Given the description of an element on the screen output the (x, y) to click on. 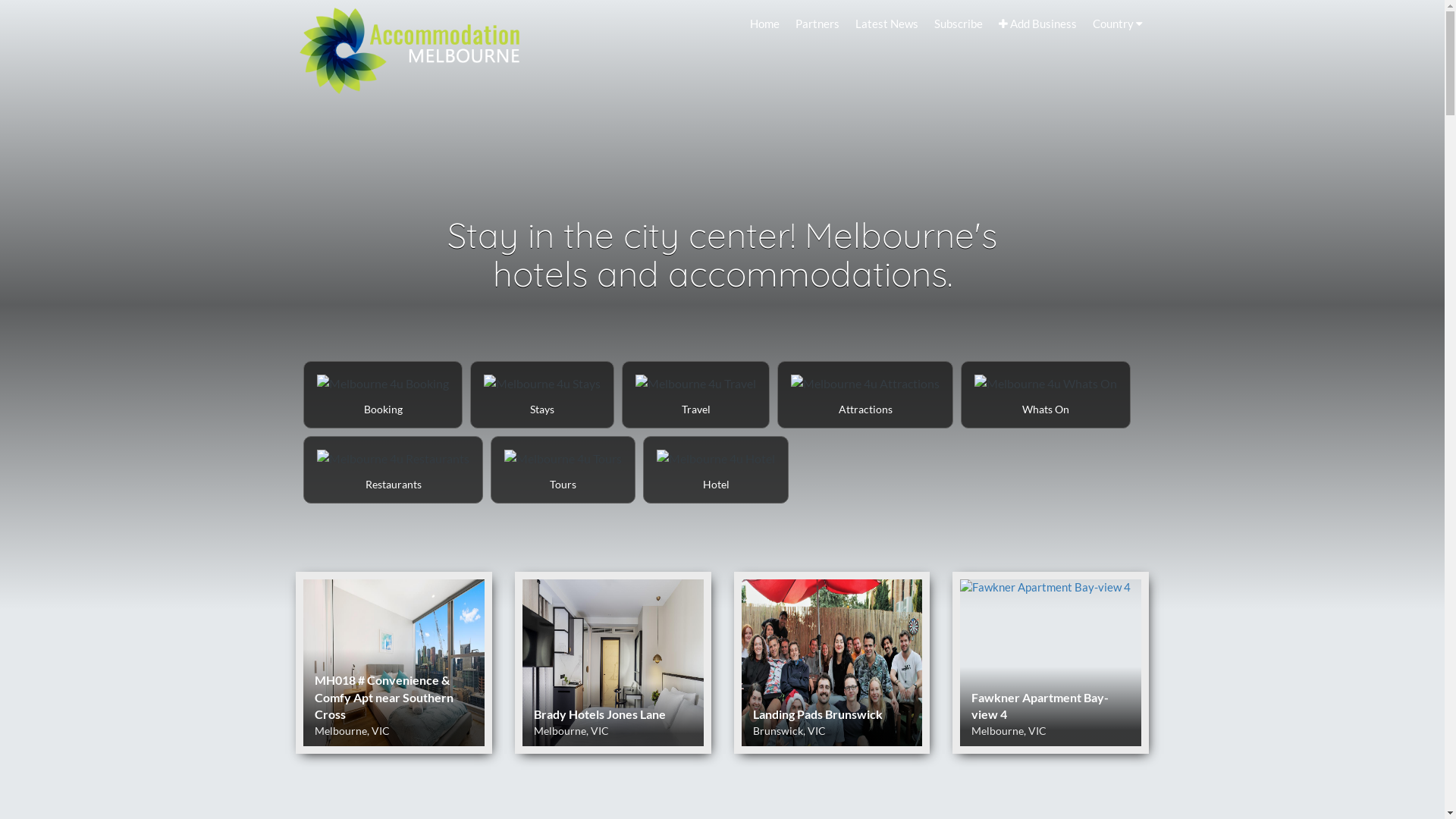
Subscribe Element type: text (958, 23)
Whats On Melbourne 4u Element type: hover (1045, 394)
Fawkner Apartment Bay-view 4
Melbourne, VIC Element type: text (1050, 662)
Partners Element type: text (817, 23)
Brady Hotels Jones Lane
Melbourne, VIC Element type: text (612, 662)
Country Element type: text (1117, 23)
Travel Melbourne 4u Element type: hover (695, 394)
Booking Melbourne 4u Element type: hover (382, 394)
Add Business Element type: text (1037, 23)
Restaurants Melbourne 4u Element type: hover (393, 469)
Hotel Melbourne 4u Element type: hover (715, 469)
Melbourne 4u Home Page Element type: hover (409, 47)
Home Element type: text (764, 23)
Stays Melbourne 4u Element type: hover (541, 394)
Attractions Melbourne 4u Element type: hover (865, 394)
Tours Melbourne 4u Element type: hover (562, 469)
Landing Pads Brunswick
Brunswick, VIC Element type: text (832, 662)
Latest News Element type: text (886, 23)
